Given the description of an element on the screen output the (x, y) to click on. 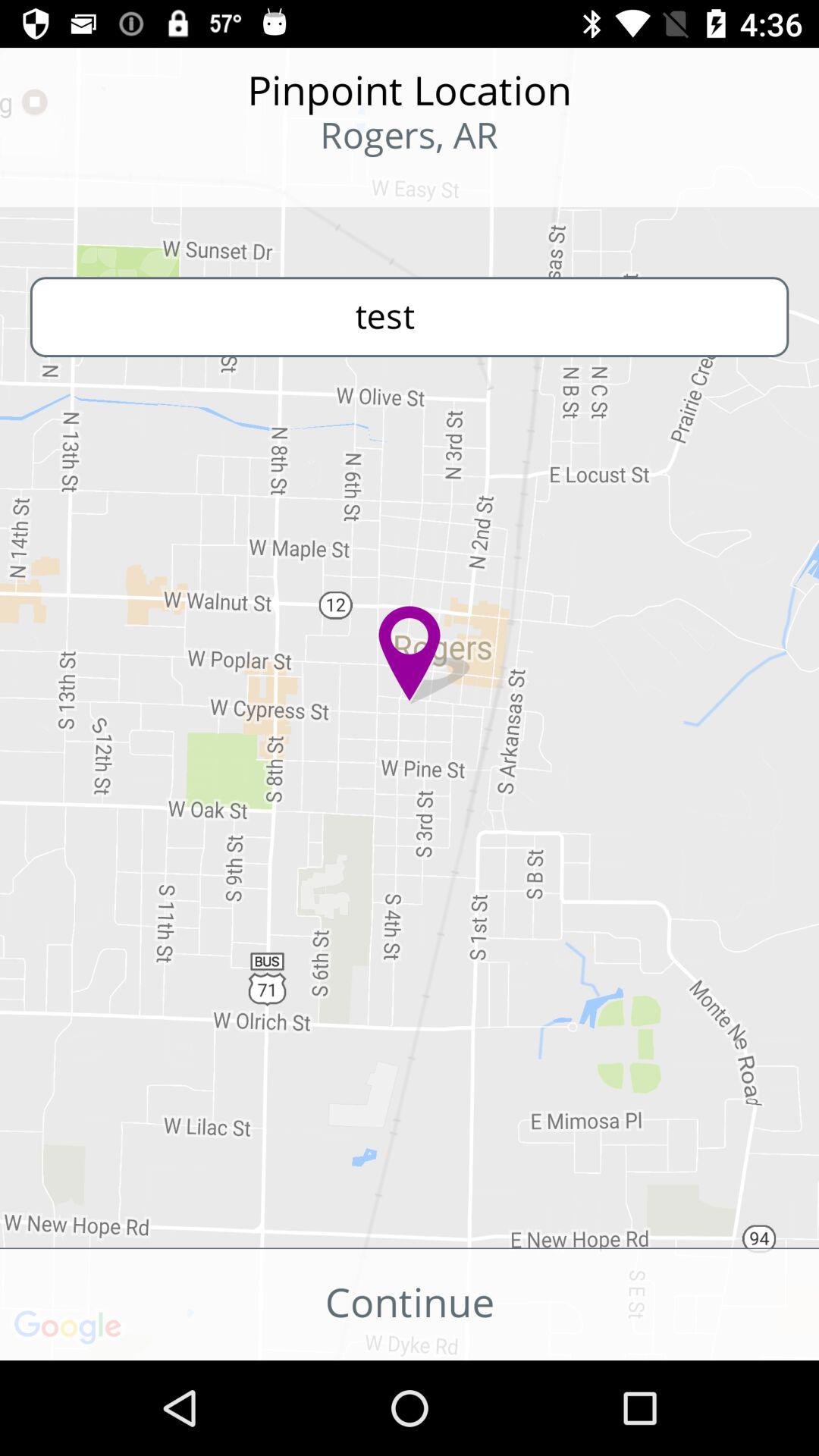
open the test item (409, 316)
